Given the description of an element on the screen output the (x, y) to click on. 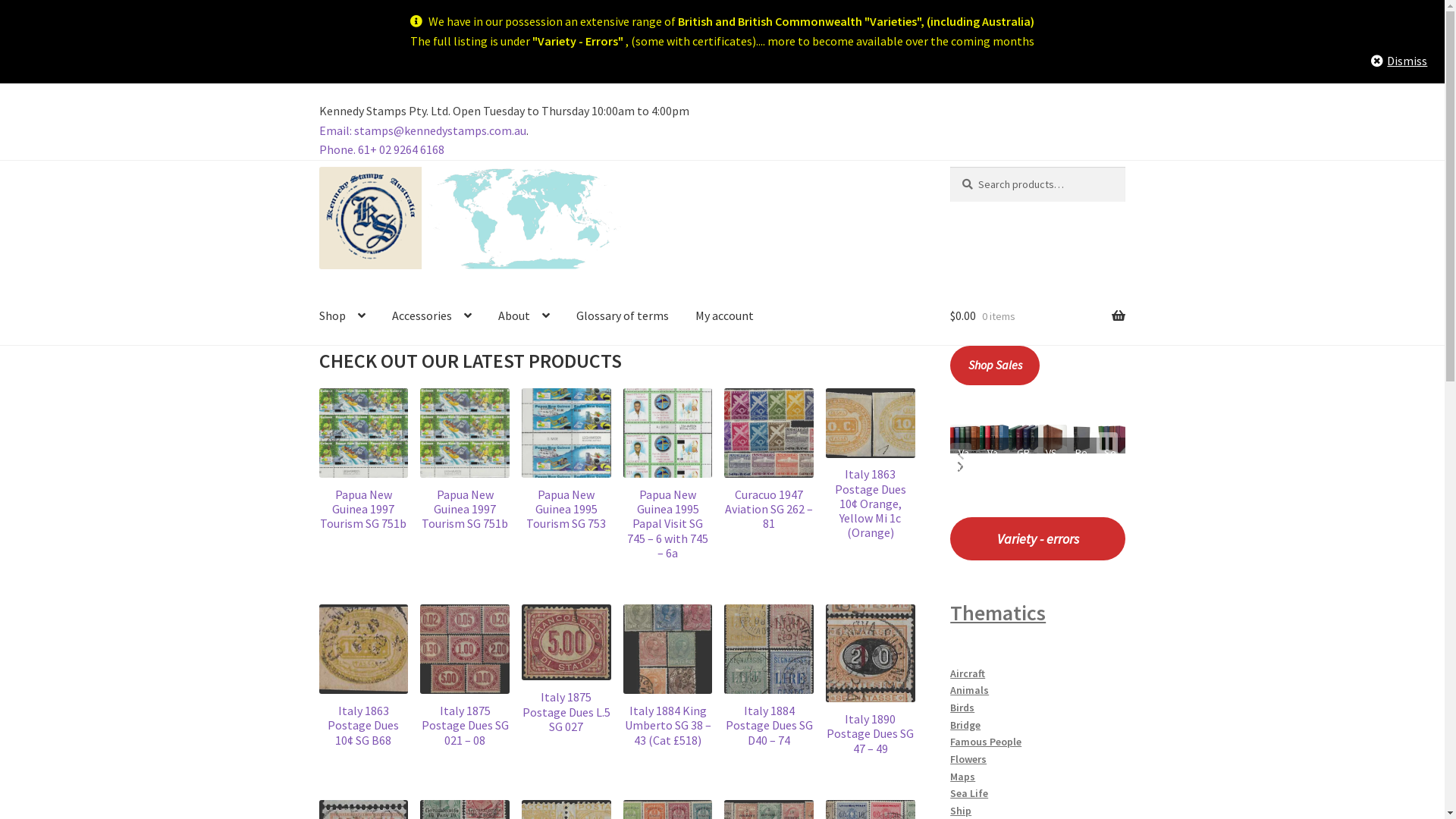
Variety - errors Element type: text (1037, 538)
Birds Element type: text (962, 707)
Email: stamps@kennedystamps.com.au Element type: text (422, 130)
Thematics Element type: text (997, 612)
My account Element type: text (724, 315)
Glossary of terms Element type: text (622, 315)
Shop Sales Element type: text (994, 364)
Italy 1875 Postage Dues L.5 SG 027 Element type: text (566, 668)
Flowers Element type: text (968, 758)
Phone. 61+ 02 9264 6168 Element type: text (381, 148)
About Element type: text (523, 315)
$0.00 0 items Element type: text (1037, 315)
Skip to navigation Element type: text (318, 166)
Papua New Guinea 1995 Tourism SG 753 Element type: text (566, 459)
Animals Element type: text (969, 689)
Search Element type: text (949, 166)
Ship Element type: text (960, 810)
Dismiss Element type: text (1398, 61)
Sea Life Element type: text (969, 793)
Famous People Element type: text (985, 741)
Aircraft Element type: text (967, 673)
Papua New Guinea 1997 Tourism SG 751b Element type: text (464, 459)
Papua New Guinea 1997 Tourism SG 751b Element type: text (363, 459)
Accessories Element type: text (431, 315)
Shop Element type: text (342, 315)
Maps Element type: text (962, 776)
Bridge Element type: text (965, 724)
